Given the description of an element on the screen output the (x, y) to click on. 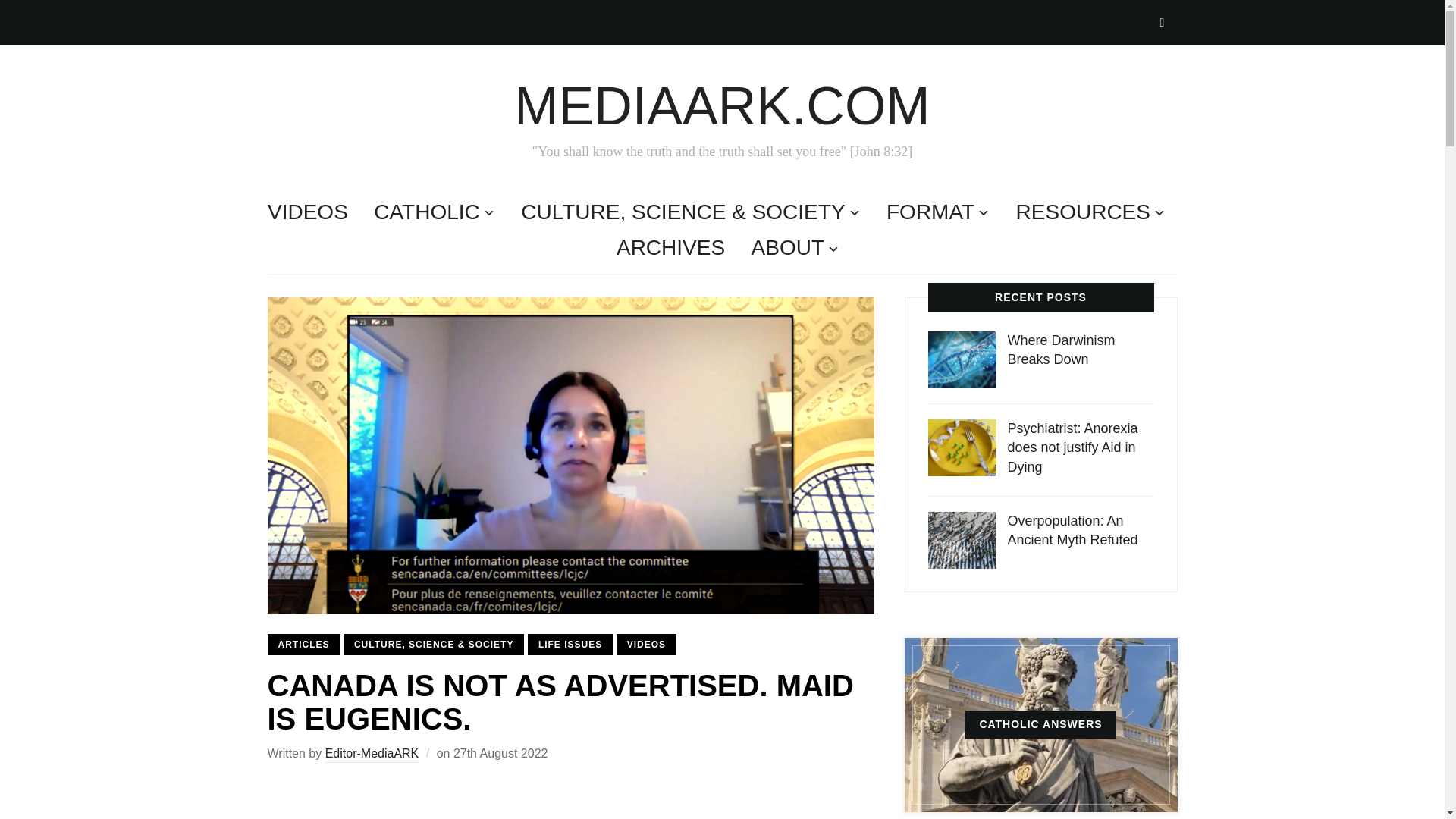
Search (1161, 22)
Posts by Editor-MediaARK (371, 754)
MEDIAARK.COM (721, 105)
